Given the description of an element on the screen output the (x, y) to click on. 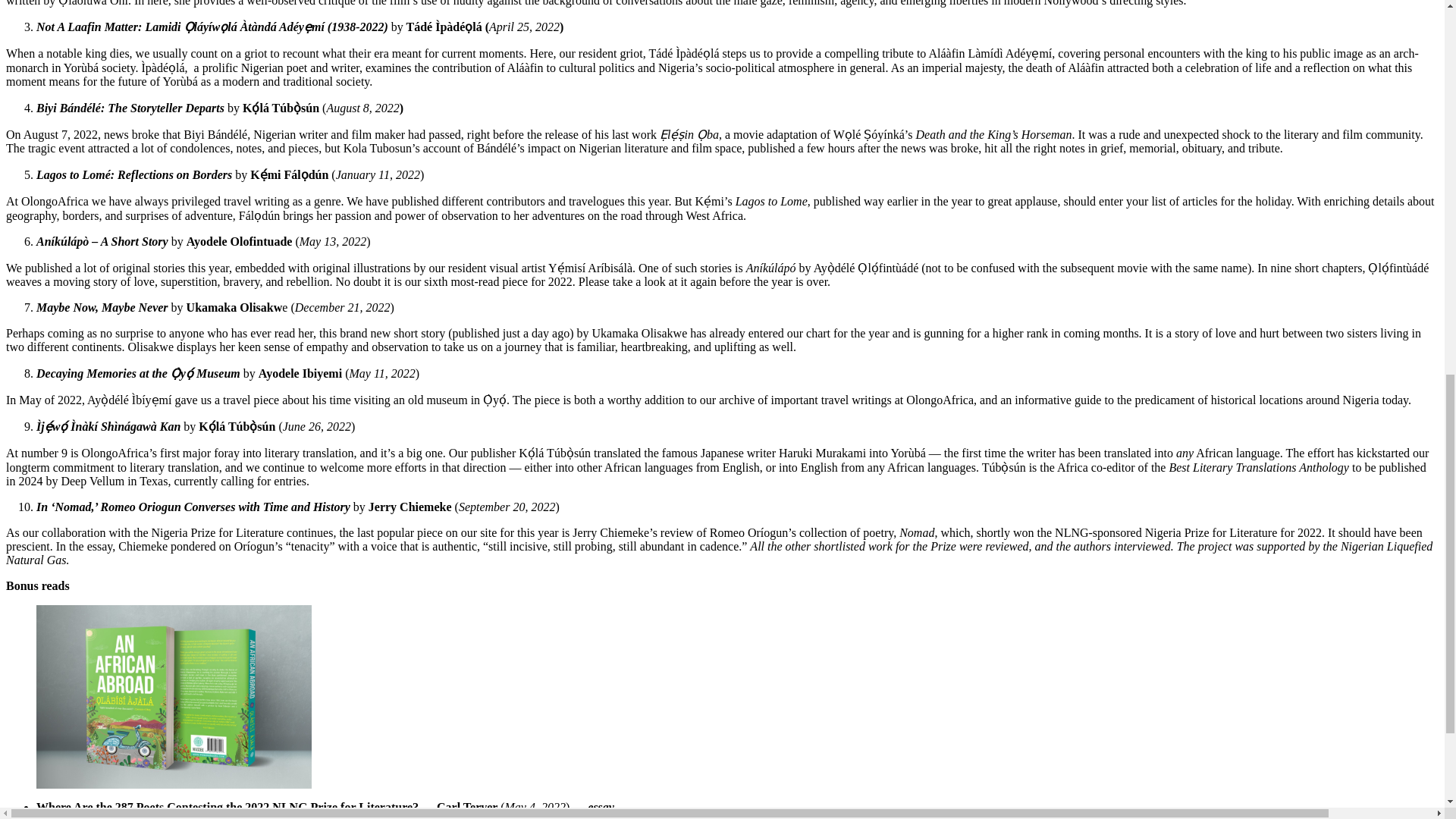
Maybe Now, Maybe Never (102, 307)
Best Literary Translations Anthology (1259, 467)
